Given the description of an element on the screen output the (x, y) to click on. 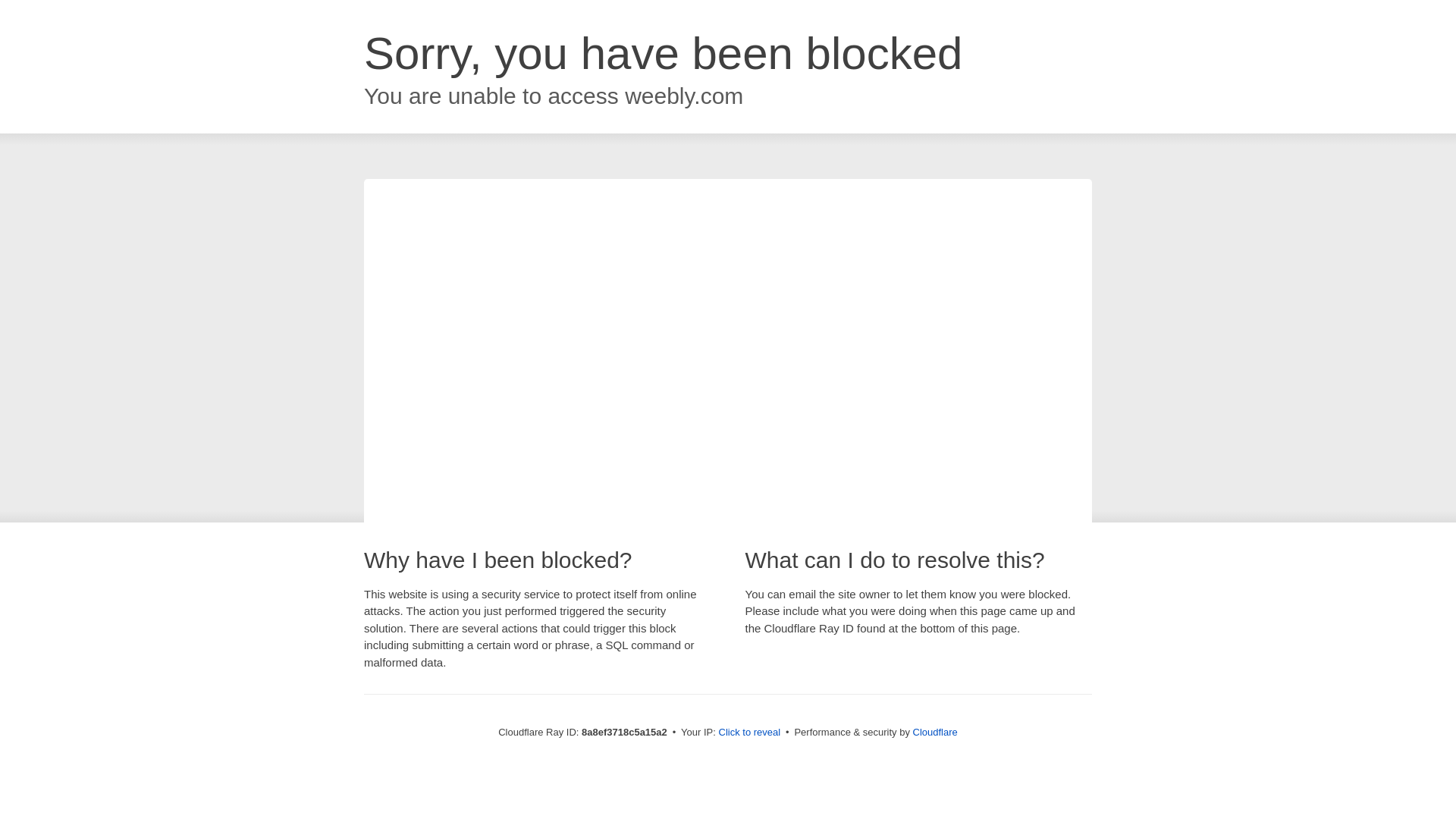
Cloudflare (935, 731)
Click to reveal (749, 732)
